Given the description of an element on the screen output the (x, y) to click on. 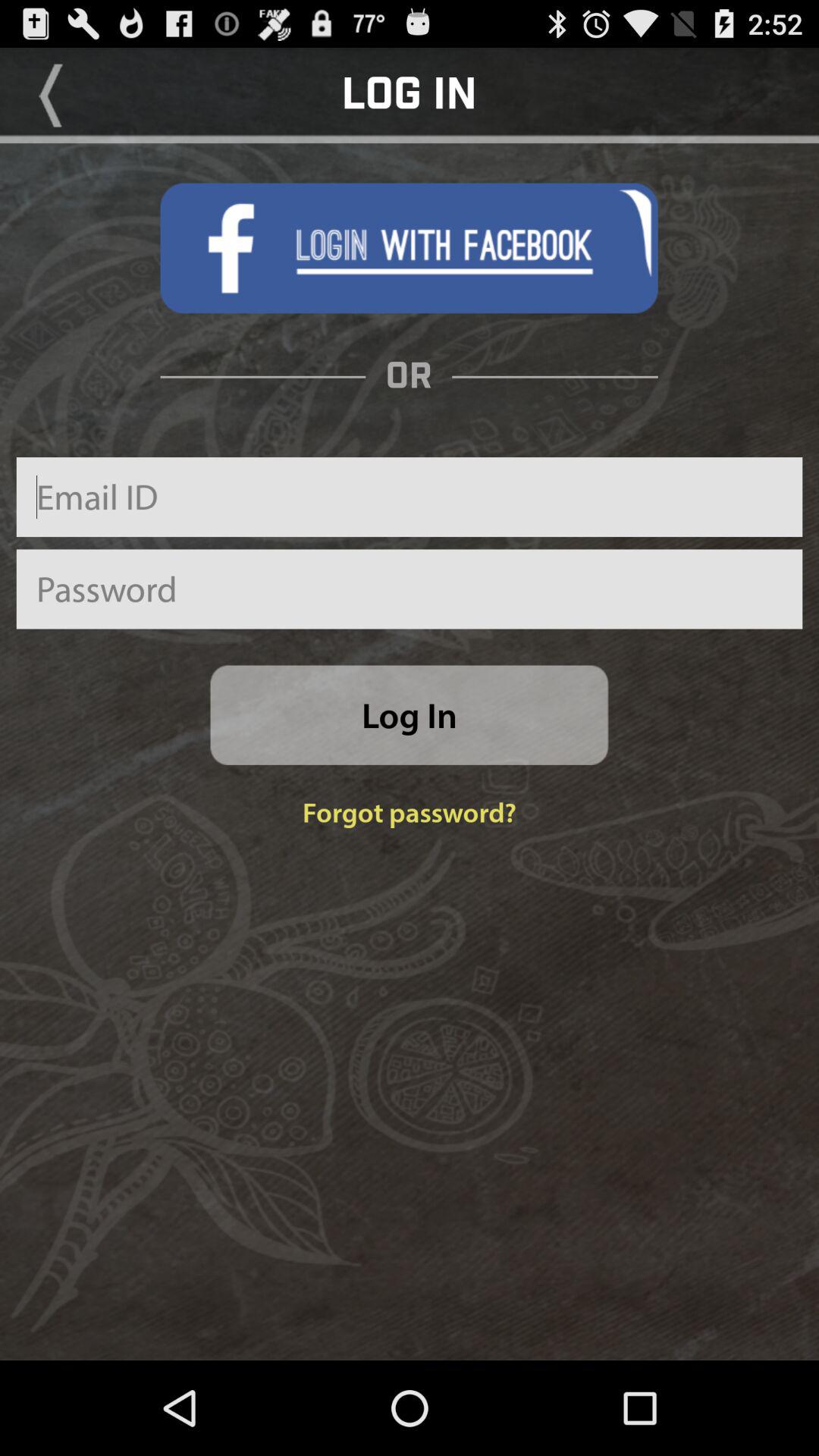
go to previous page (50, 95)
